Given the description of an element on the screen output the (x, y) to click on. 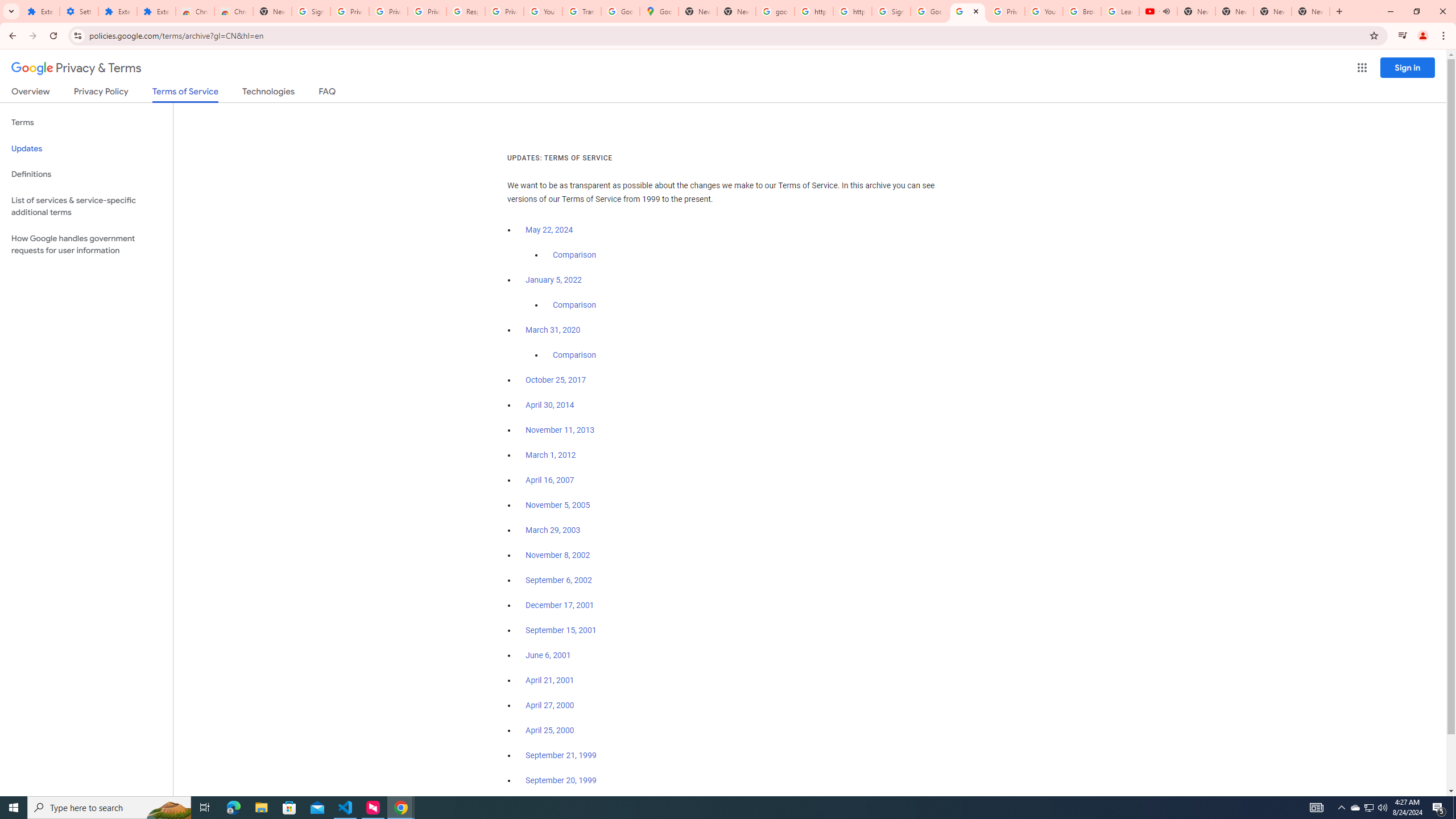
December 17, 2001 (559, 605)
Sign in - Google Accounts (310, 11)
How Google handles government requests for user information (86, 244)
Extensions (117, 11)
October 25, 2017 (555, 380)
Comparison (574, 355)
April 30, 2014 (550, 405)
Definitions (86, 174)
